Given the description of an element on the screen output the (x, y) to click on. 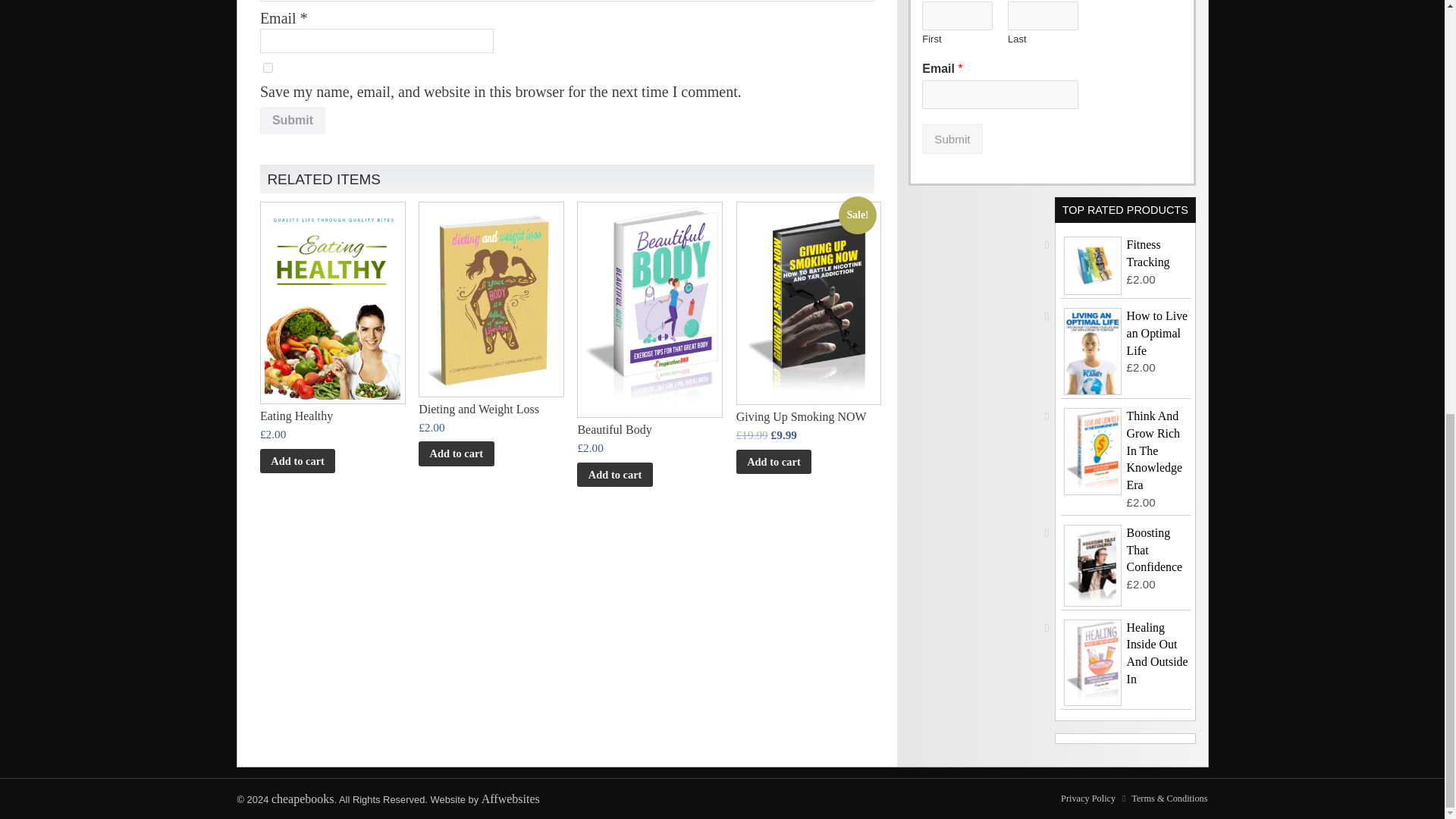
Affwebsites (510, 798)
Boosting That Confidence (1126, 550)
Fitness Tracking (1126, 253)
Add to cart (614, 474)
Add to cart (456, 453)
How to Live an Optimal Life (1126, 333)
Privacy Policy (1088, 798)
Submit (292, 120)
Submit (292, 120)
Add to cart (297, 460)
